Given the description of an element on the screen output the (x, y) to click on. 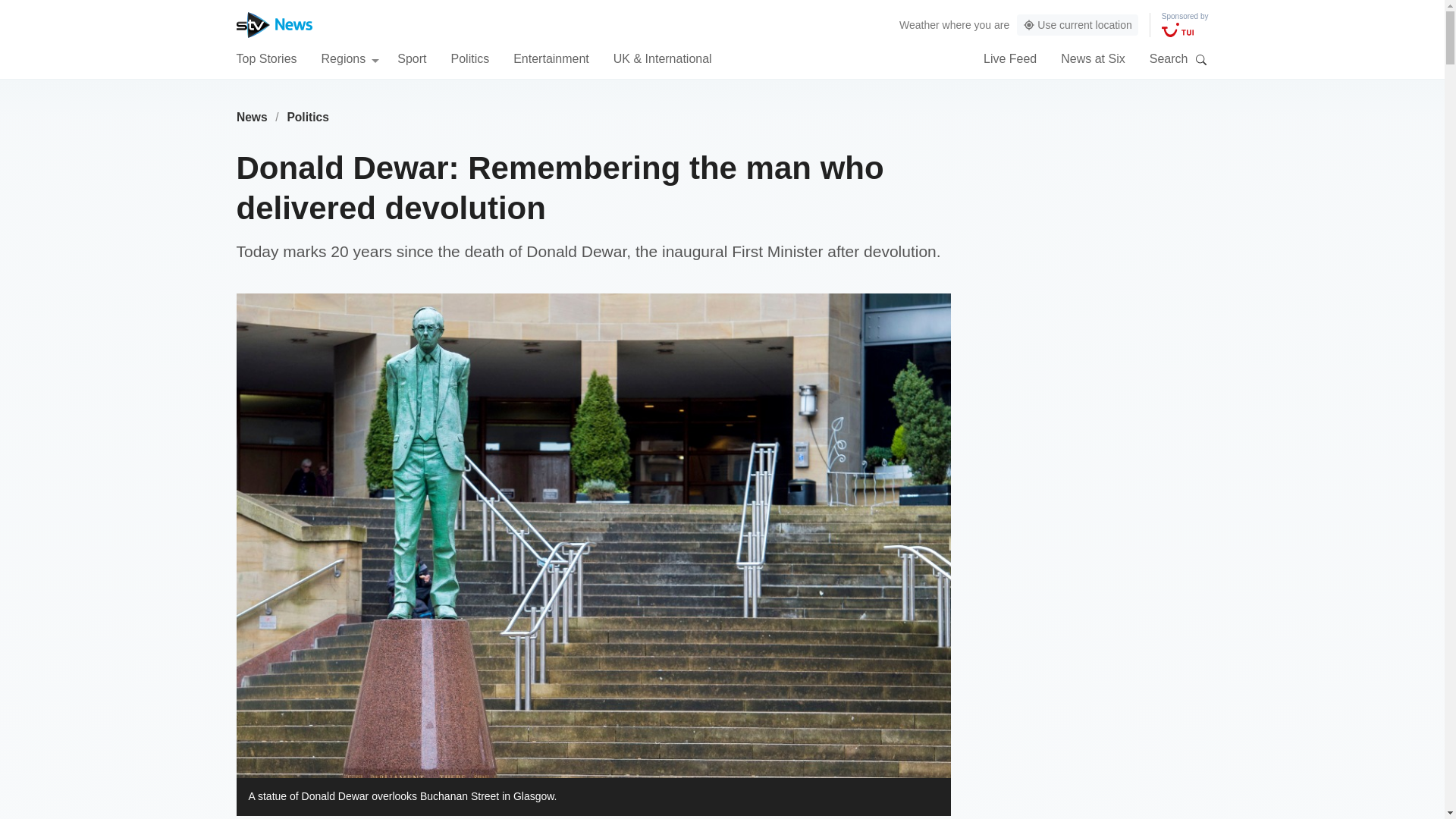
Use current location (1077, 25)
Weather (919, 24)
Search (1201, 59)
Politics (469, 57)
Politics (307, 116)
News (252, 116)
Regions (350, 57)
Entertainment (551, 57)
News at Six (1092, 57)
Top Stories (266, 57)
Live Feed (1010, 57)
